Given the description of an element on the screen output the (x, y) to click on. 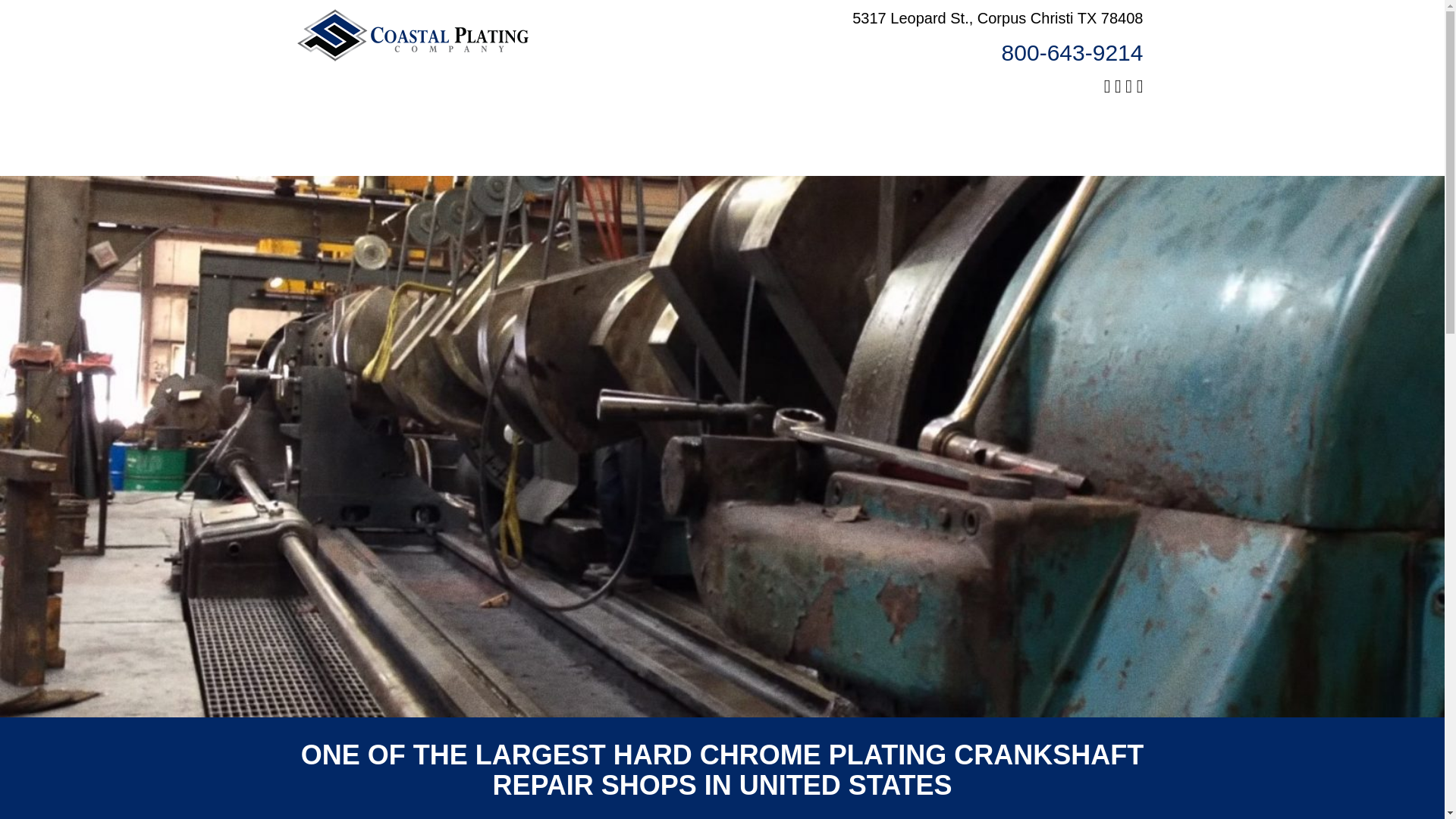
CLIENT LOGIN (1074, 123)
HOME (360, 123)
GALLERY (931, 123)
COMPANY (503, 123)
INSPECTIONS (646, 123)
SERVICES (788, 123)
